Given the description of an element on the screen output the (x, y) to click on. 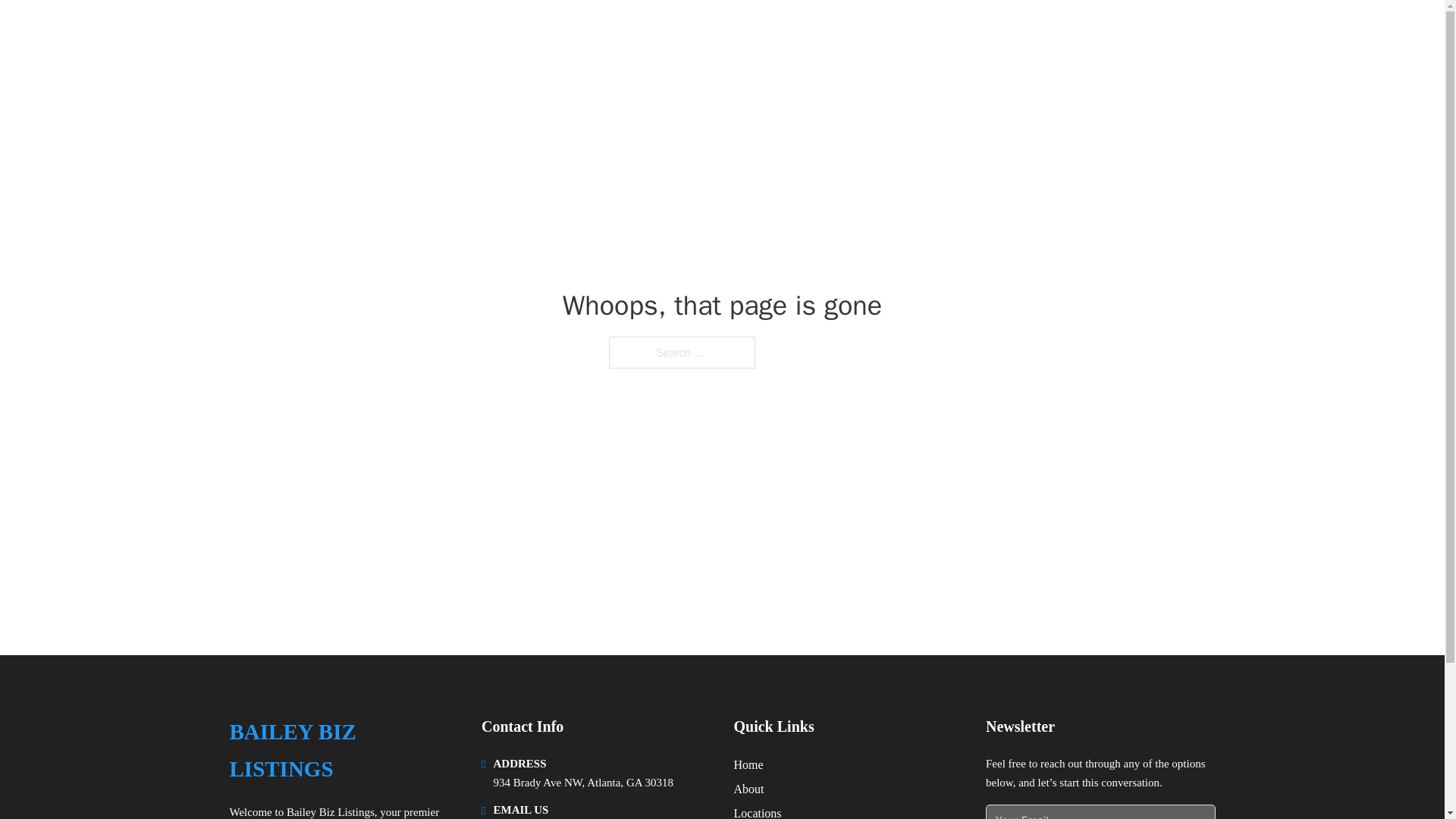
BAILEY BIZ LISTINGS (358, 31)
Locations (757, 811)
About (748, 788)
BAILEY BIZ LISTINGS (343, 750)
Home (747, 764)
LOCATIONS (1098, 31)
HOME (1025, 31)
